Given the description of an element on the screen output the (x, y) to click on. 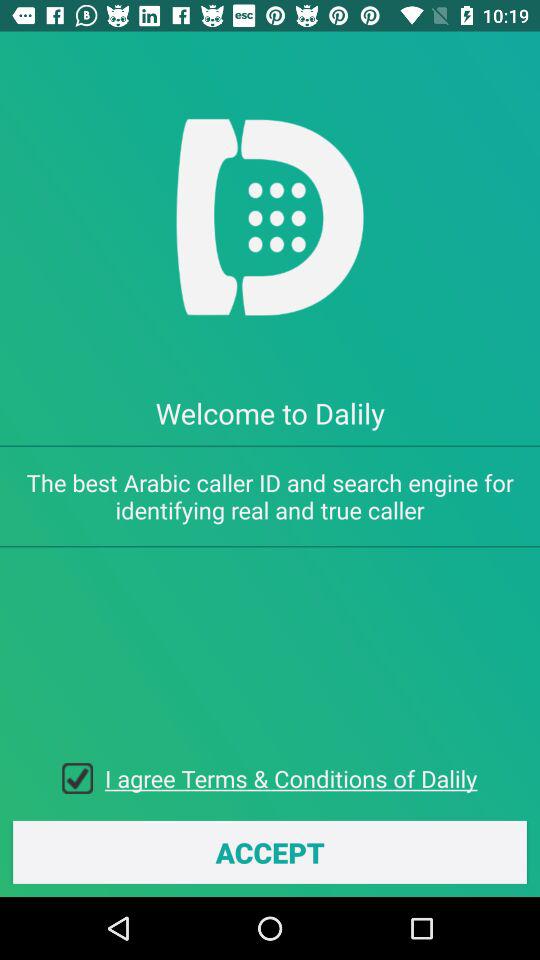
click the item at the bottom left corner (83, 778)
